Given the description of an element on the screen output the (x, y) to click on. 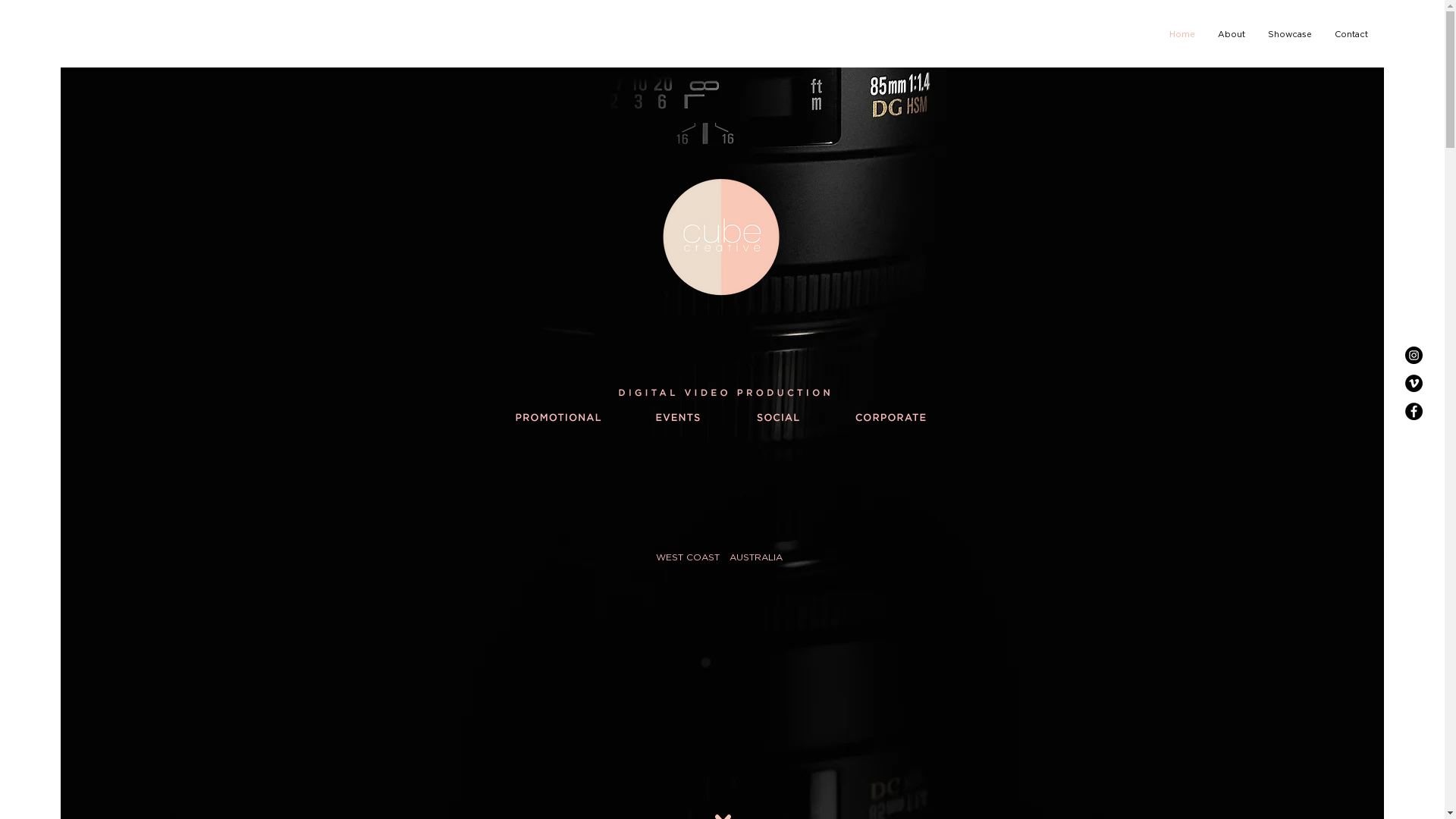
Home Element type: text (1181, 34)
About Element type: text (1231, 34)
Showcase Element type: text (1289, 34)
Contact Element type: text (1351, 34)
